Given the description of an element on the screen output the (x, y) to click on. 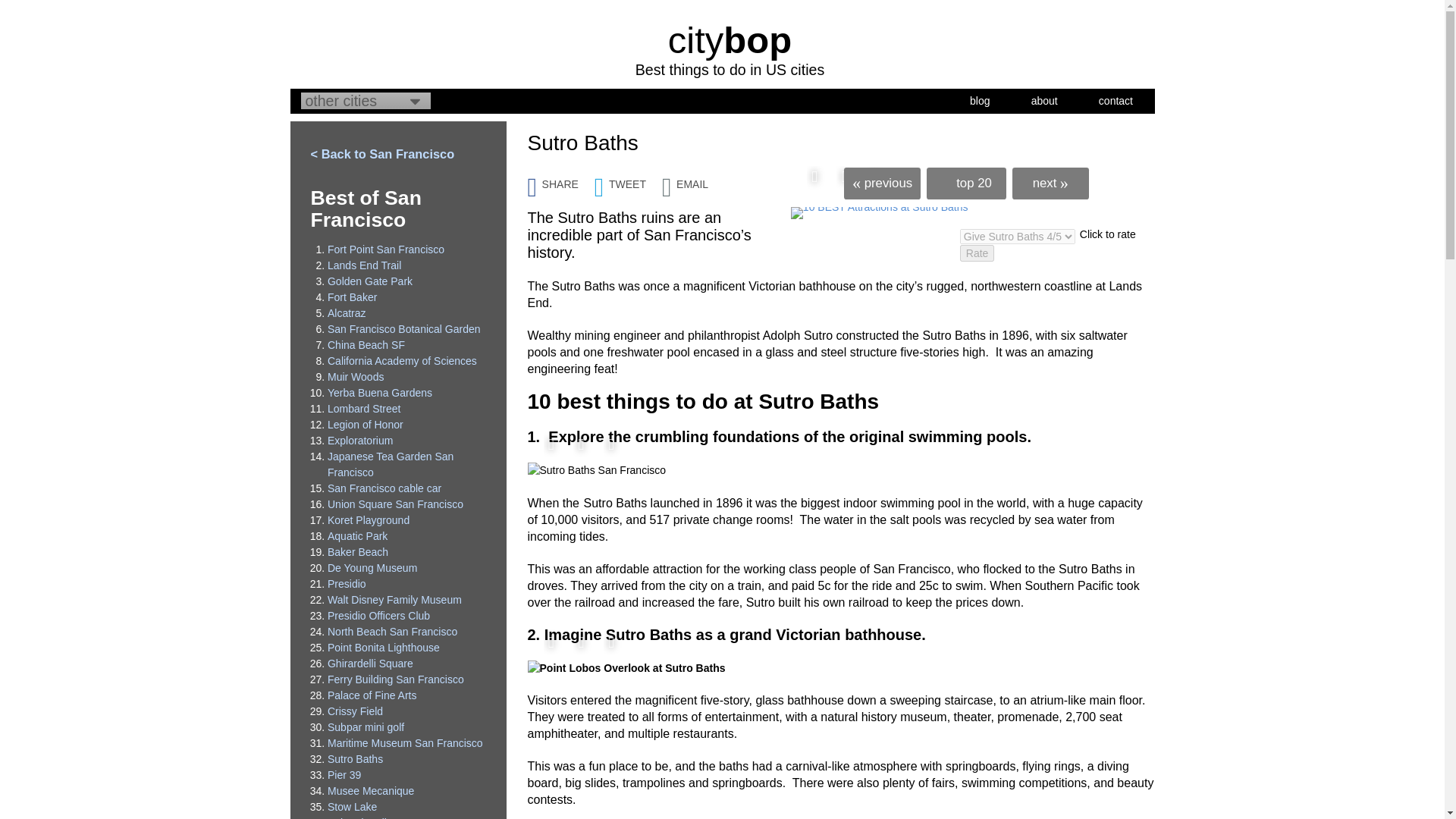
Point Lobos Overlook at Sutro Baths (626, 668)
contact (1115, 101)
10 BEST Attractions at Sutro Baths (879, 213)
Rate (976, 252)
Sutro Baths San Francisco (596, 470)
SHARE (560, 179)
Home page (730, 39)
TWEET (628, 179)
blog (979, 101)
EMAIL (692, 179)
top 20 (966, 183)
citybop (730, 39)
about (1044, 101)
Rate (976, 252)
